Given the description of an element on the screen output the (x, y) to click on. 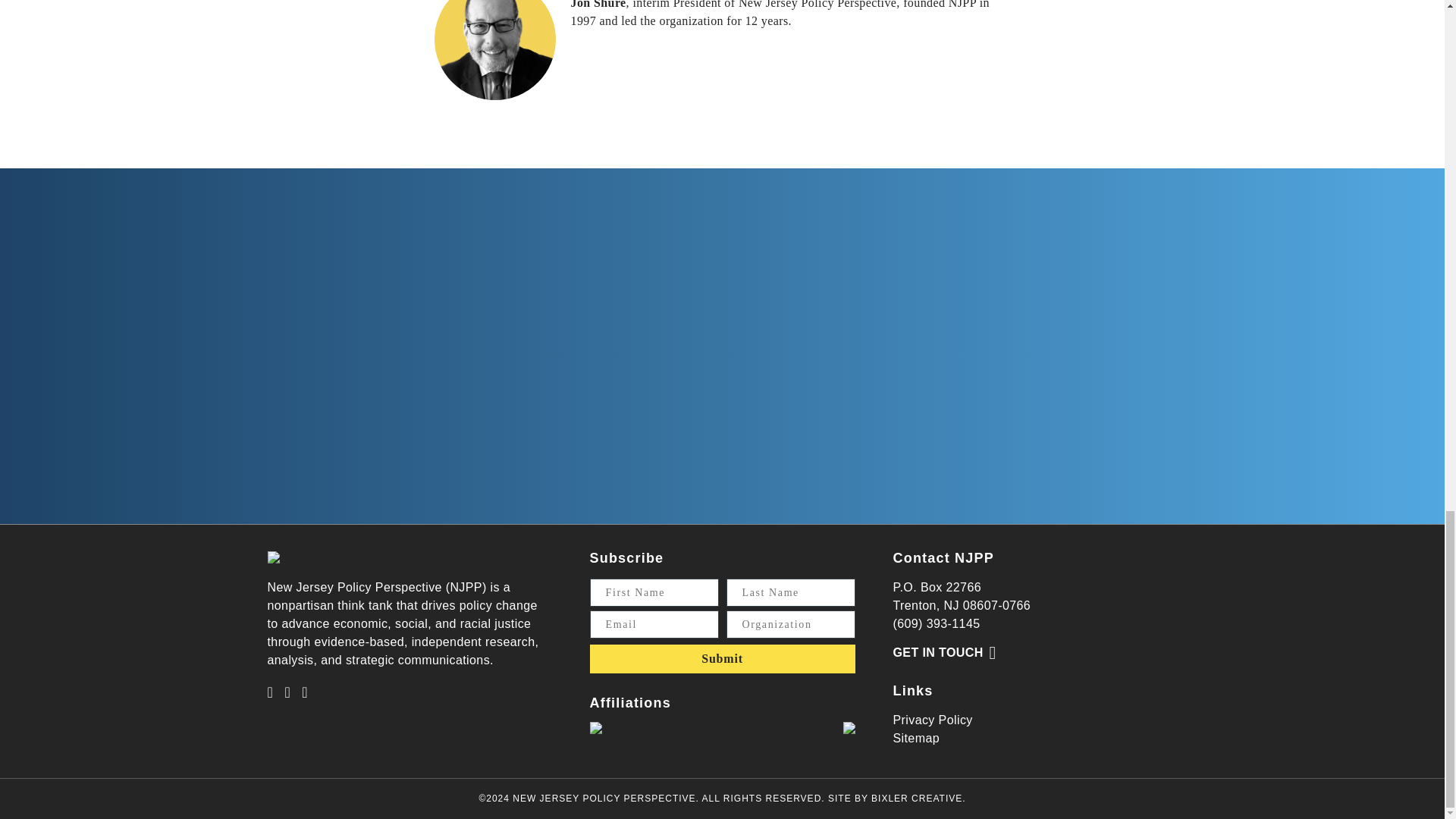
Submit (722, 658)
njpp-logo-initials-ko (272, 557)
Subscribe (626, 557)
